Given the description of an element on the screen output the (x, y) to click on. 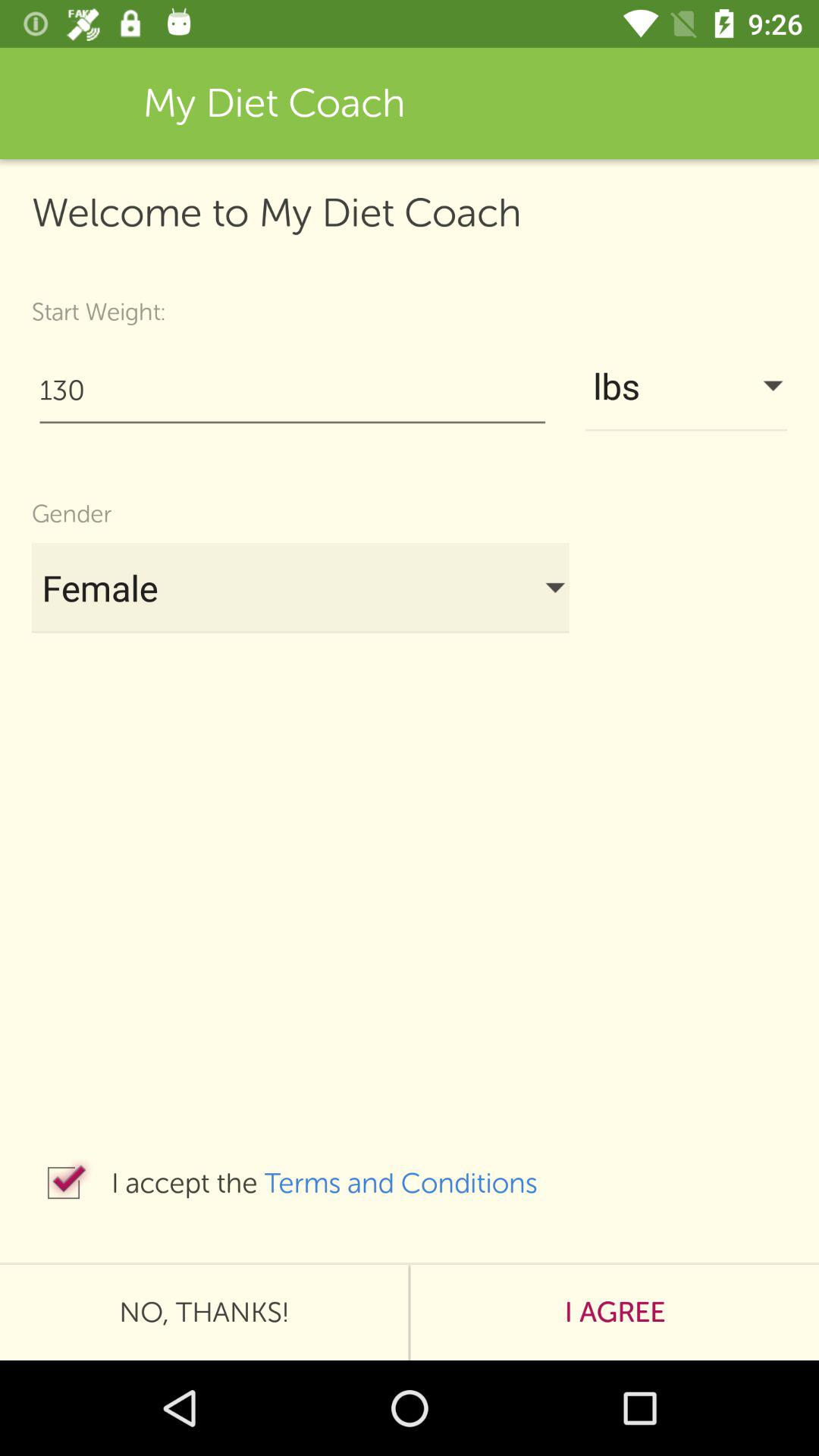
select terms and conditions item (416, 1182)
